Given the description of an element on the screen output the (x, y) to click on. 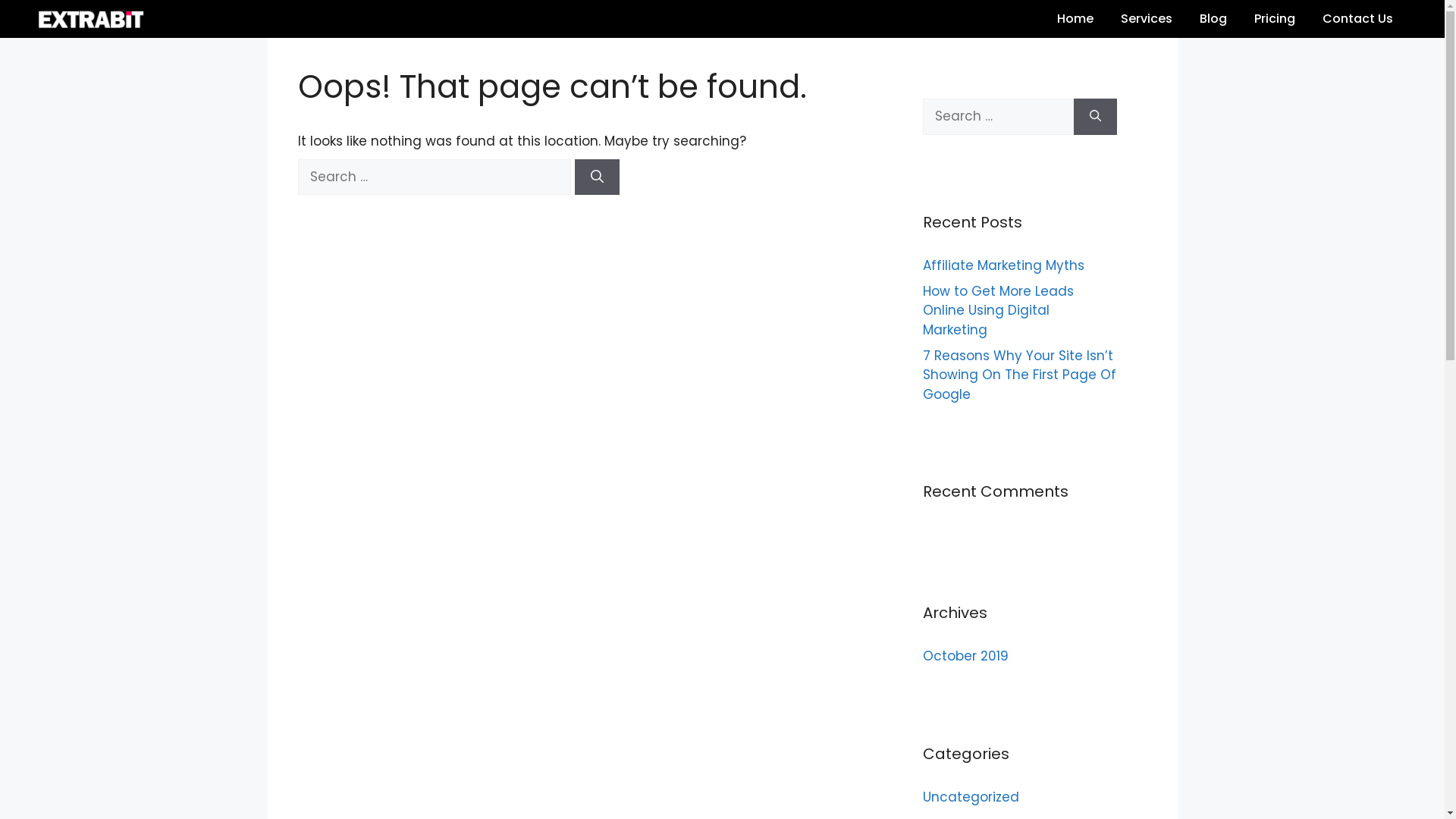
Services Element type: text (1146, 18)
October 2019 Element type: text (964, 655)
Uncategorized Element type: text (970, 796)
Blog Element type: text (1213, 18)
Contact Us Element type: text (1357, 18)
Search for: Element type: hover (433, 177)
Search for: Element type: hover (997, 116)
Affiliate Marketing Myths  Element type: text (1004, 265)
How to Get More Leads Online Using Digital Marketing Element type: text (997, 310)
Pricing Element type: text (1274, 18)
Home Element type: text (1075, 18)
